Given the description of an element on the screen output the (x, y) to click on. 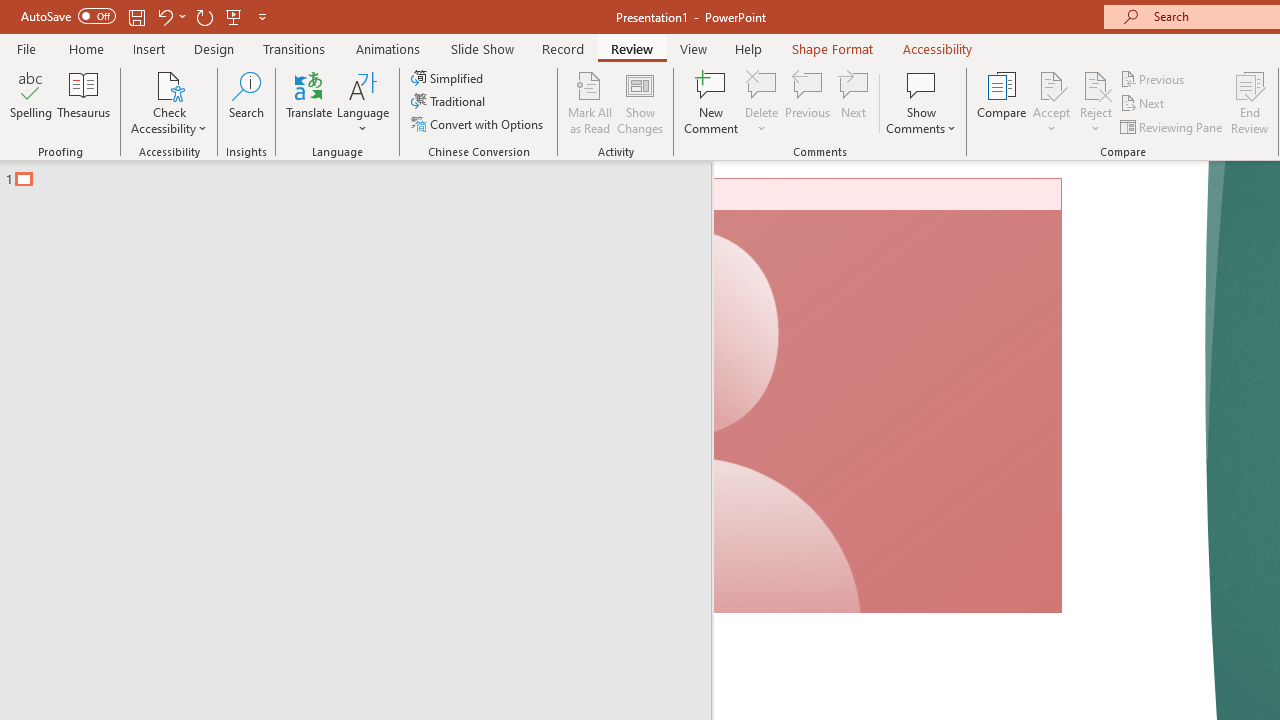
Reject (1096, 102)
Outline (364, 174)
Next (1144, 103)
Reject Change (1096, 84)
